Given the description of an element on the screen output the (x, y) to click on. 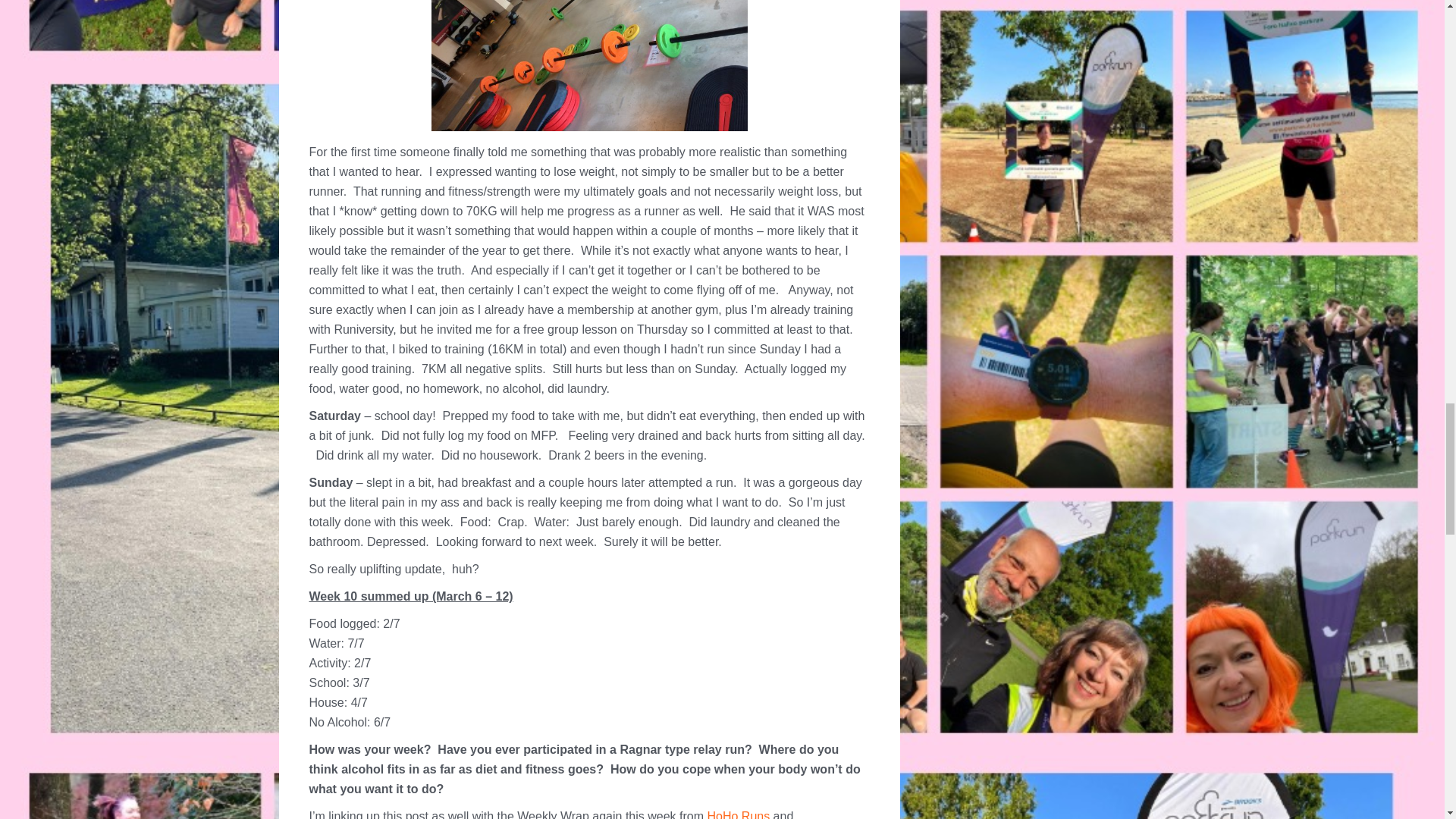
HoHo Runs (738, 814)
